Given the description of an element on the screen output the (x, y) to click on. 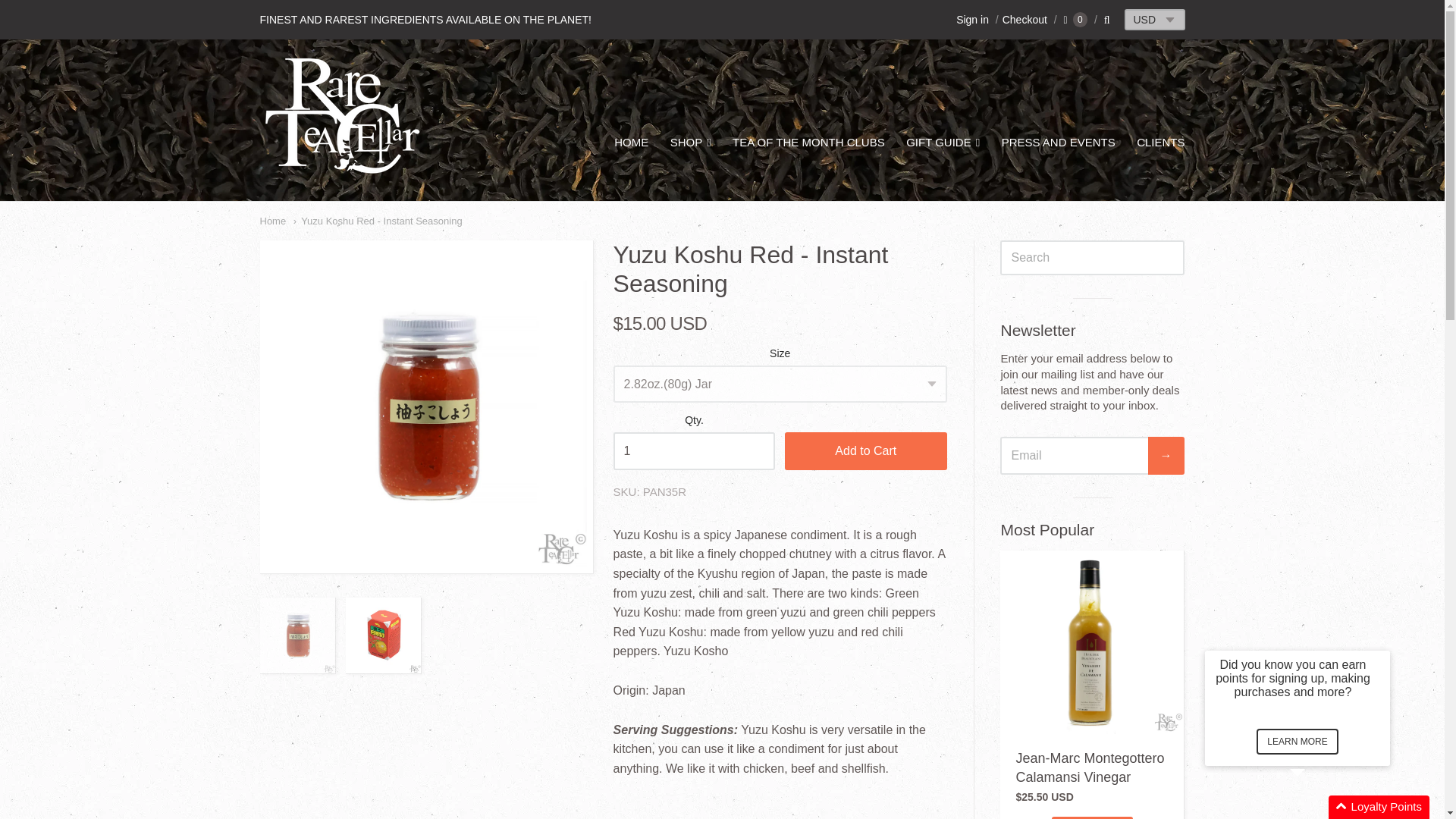
Rare Tea Cellar (342, 172)
Home (272, 220)
HOME (631, 142)
Sign in (972, 19)
Yuzu Koshu Red - Instant Seasoning (378, 220)
Jean-Marc Montegottero Calamansi Vinegar (1088, 767)
SHOP (690, 142)
Checkout (1018, 19)
0 (1075, 19)
1 (694, 451)
